Given the description of an element on the screen output the (x, y) to click on. 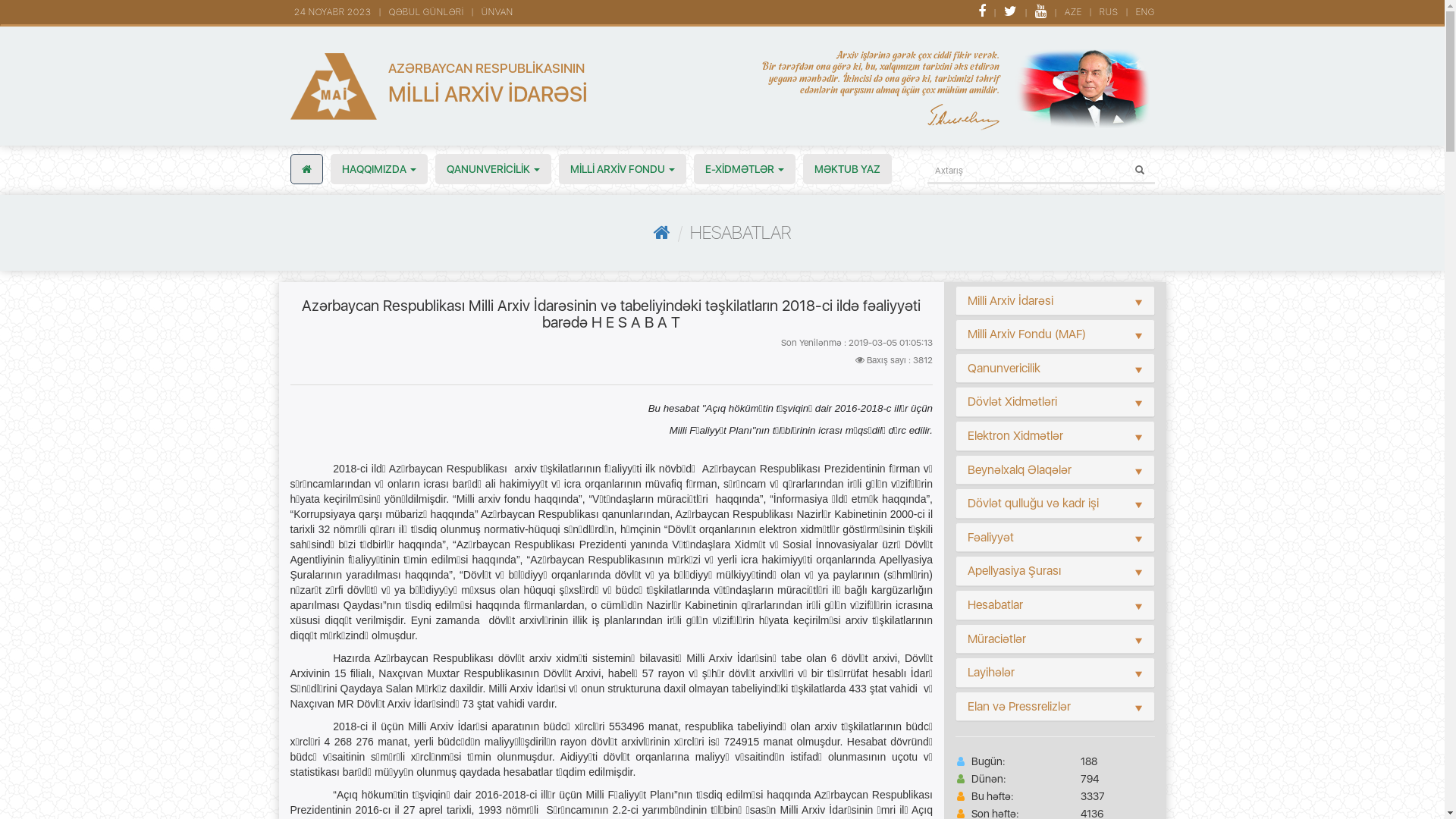
24 NOYABR 2023 Element type: text (336, 11)
Milli Arxiv Fondu (MAF) Element type: text (1026, 333)
ENG Element type: text (1148, 11)
Qanunvericilik Element type: text (1003, 367)
RUS Element type: text (1113, 11)
HAQQIMIZDA Element type: text (378, 168)
Hesabatlar Element type: text (994, 604)
QANUNVERICILIK Element type: text (493, 168)
AZE Element type: text (1077, 11)
